Given the description of an element on the screen output the (x, y) to click on. 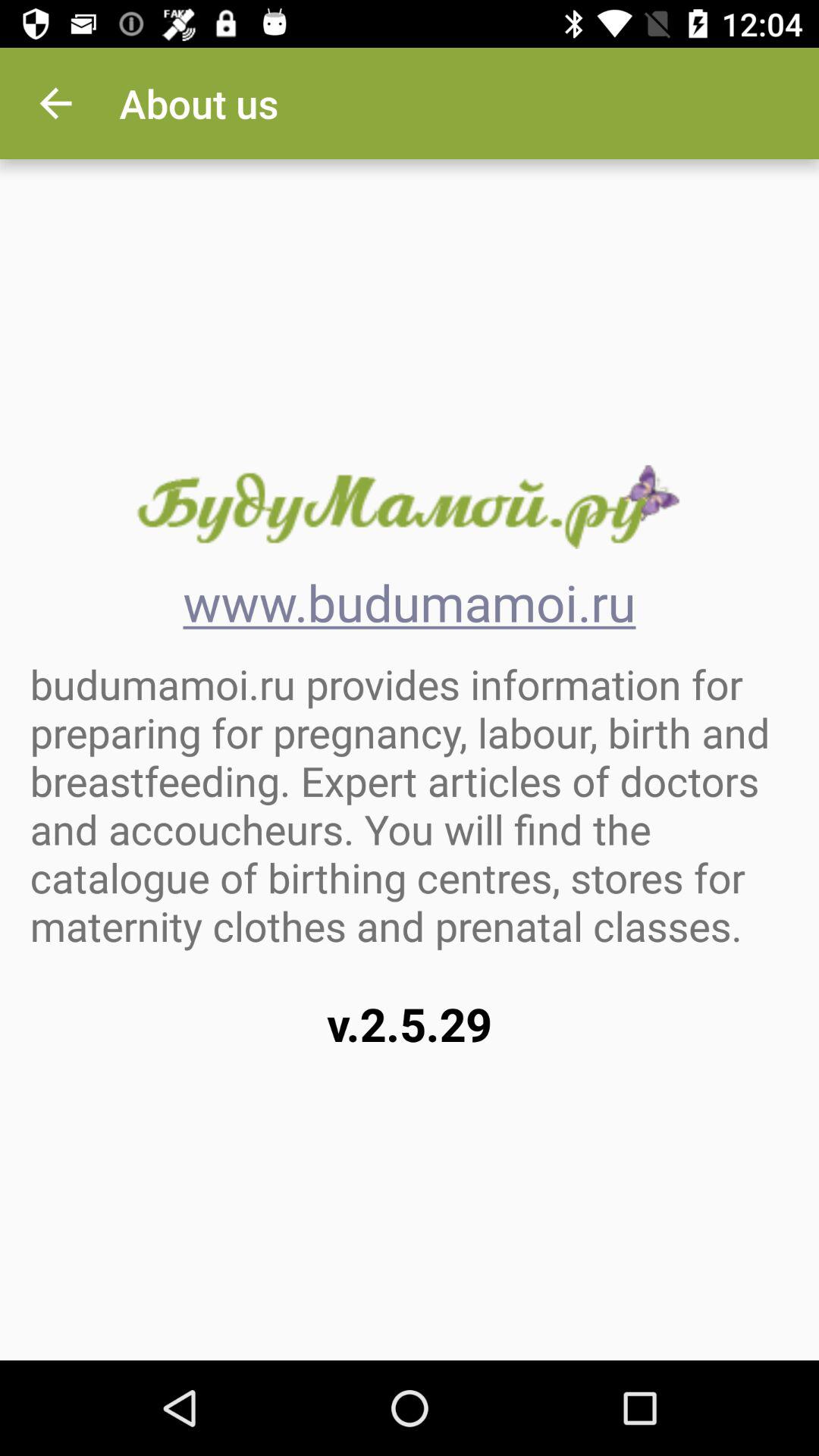
press the item above the www.budumamoi.ru item (409, 506)
